Given the description of an element on the screen output the (x, y) to click on. 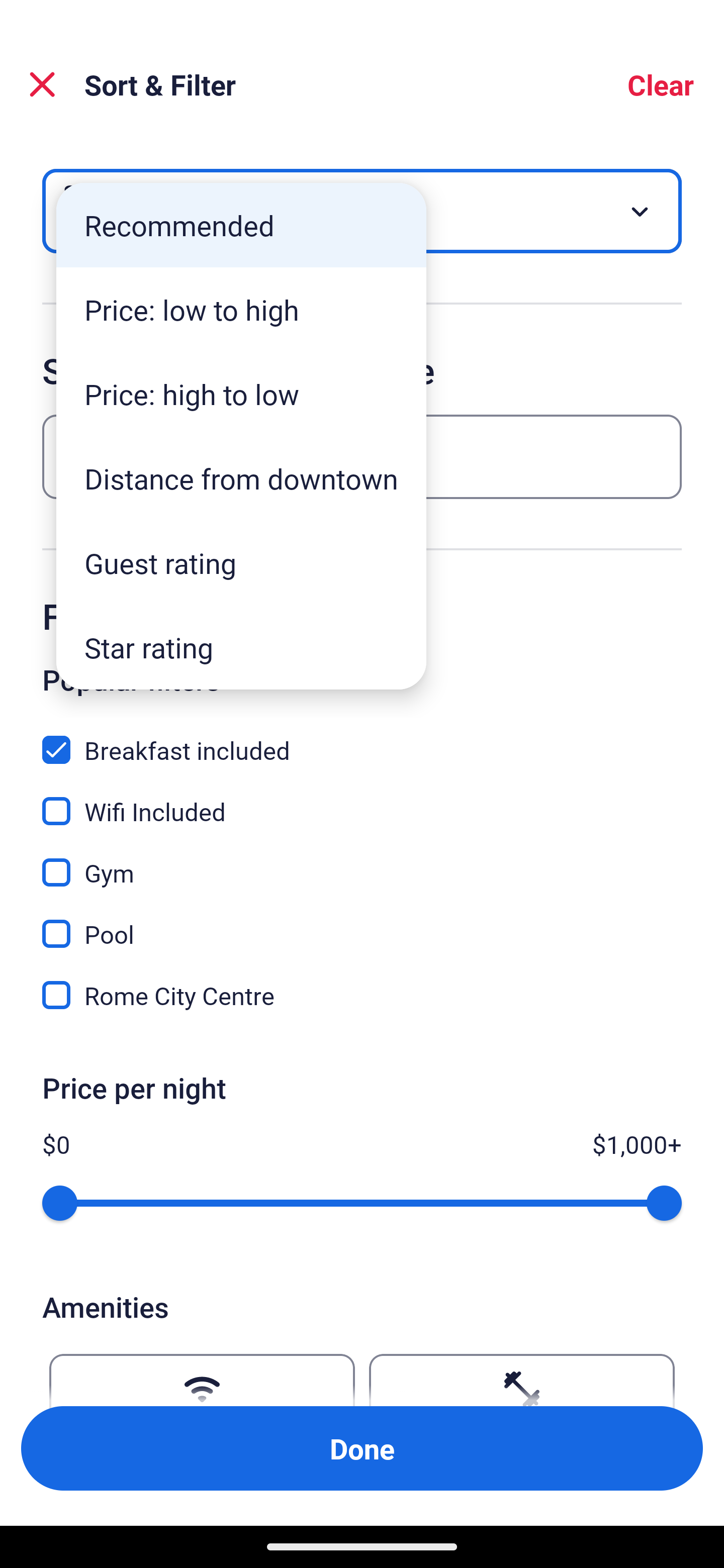
Price: low to high (241, 309)
Price: high to low (241, 393)
Distance from downtown (241, 477)
Guest rating (241, 562)
Star rating (241, 647)
